Given the description of an element on the screen output the (x, y) to click on. 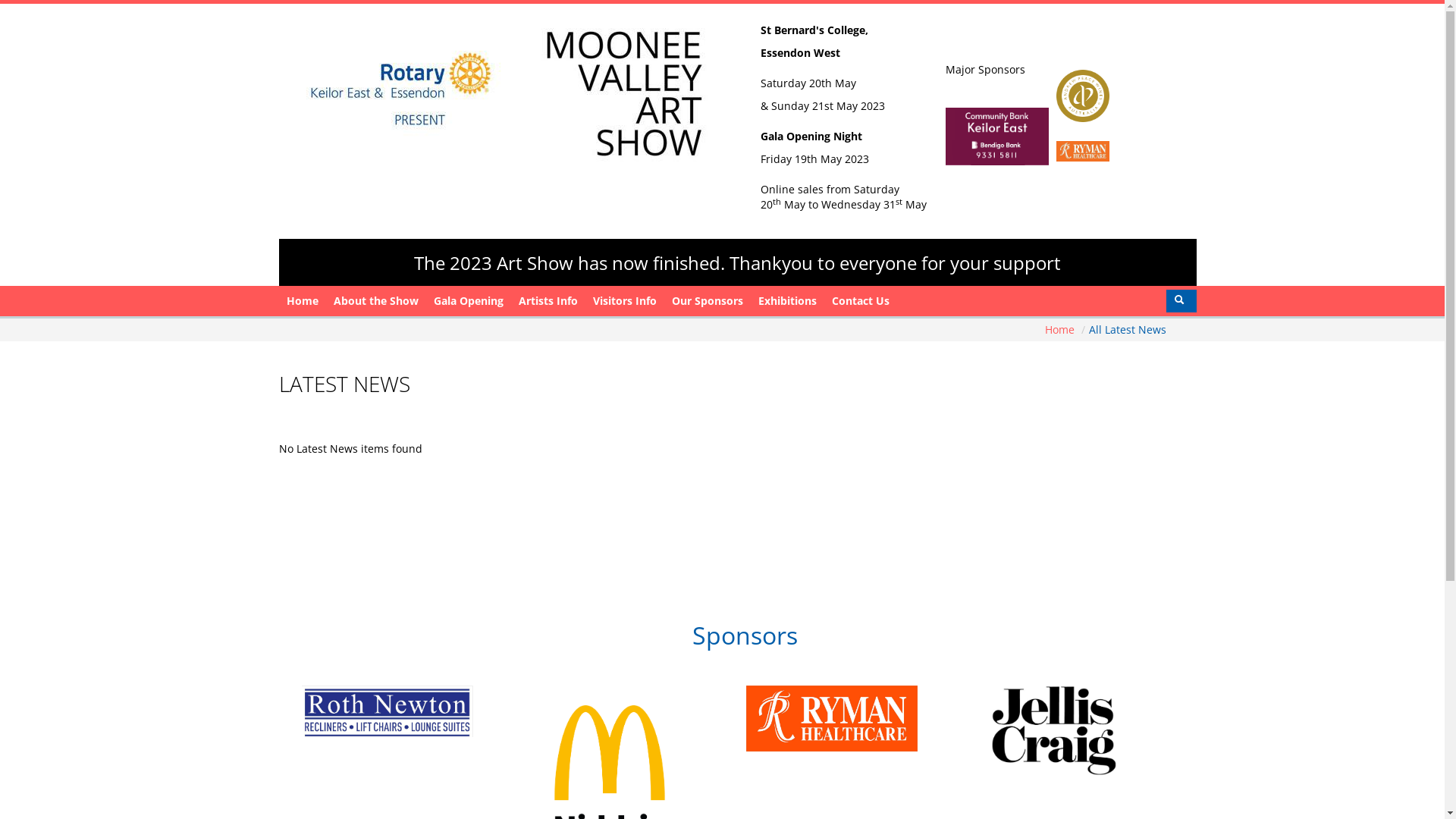
Gala Opening Element type: text (468, 300)
Artists Info Element type: text (548, 300)
Visitors Info Element type: text (624, 300)
Jellis Craig Element type: hover (1078, 730)
About the Show Element type: text (376, 300)
Contact Us Element type: text (859, 300)
Sponsors Element type: text (744, 634)
Home Element type: text (1060, 329)
MNG Lawyers Element type: hover (189, 716)
Home Element type: text (302, 300)
Ryman Health Care Element type: hover (857, 718)
Exhibitions Element type: text (787, 300)
Bendigo Community Bank Keilor East Element type: hover (1082, 149)
Roth Newton Element type: hover (412, 711)
Our Sponsors Element type: text (707, 300)
